Given the description of an element on the screen output the (x, y) to click on. 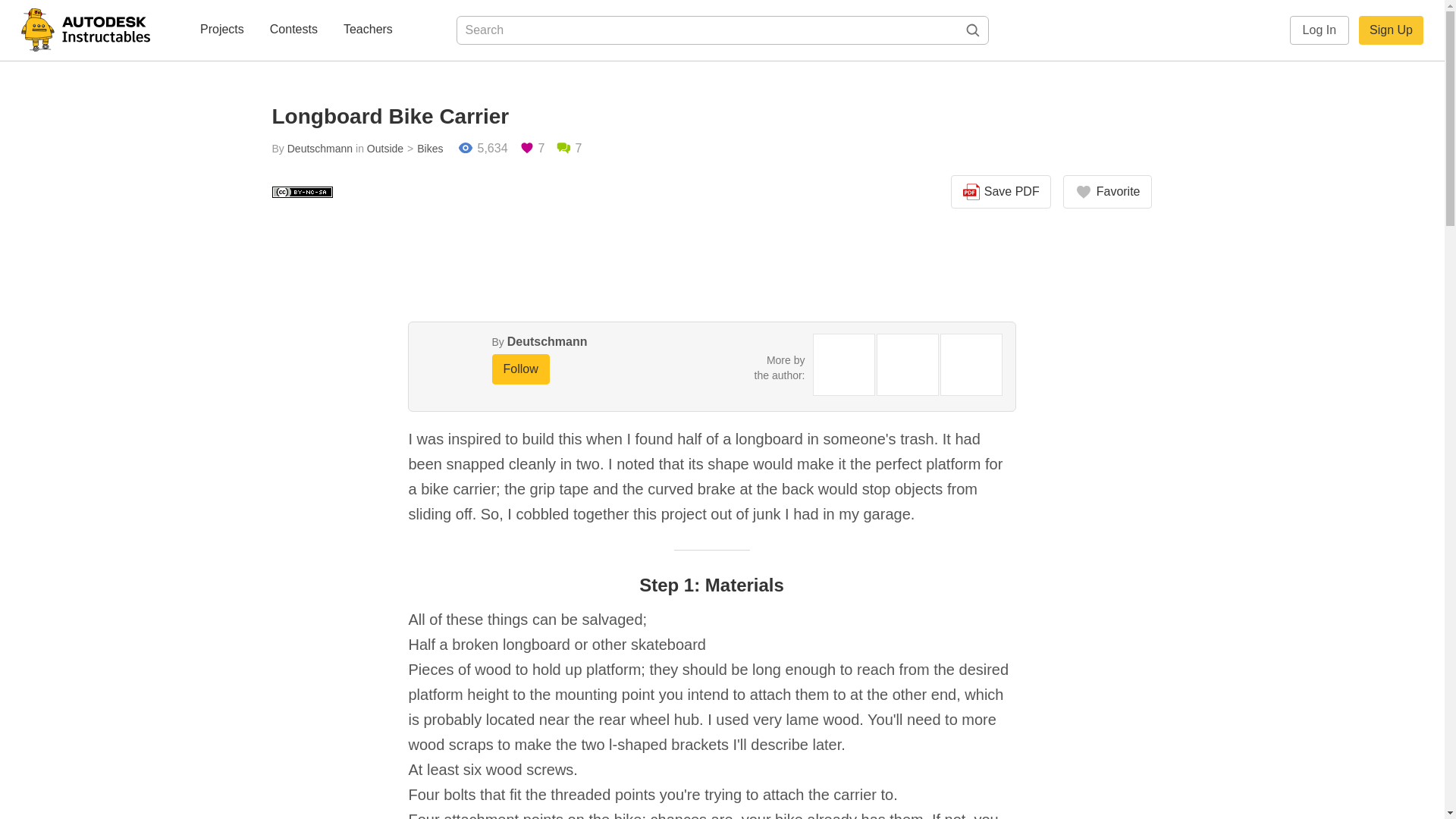
Save PDF (1000, 191)
7 (568, 148)
Log In (1319, 30)
Outside (384, 148)
Contests (293, 30)
Bikes (422, 148)
Sign Up (1390, 30)
Deutschmann (547, 341)
Deutschmann (319, 148)
Follow (520, 368)
Teachers (368, 30)
Projects (221, 30)
More by the author: (779, 366)
Favorite (1106, 191)
